Given the description of an element on the screen output the (x, y) to click on. 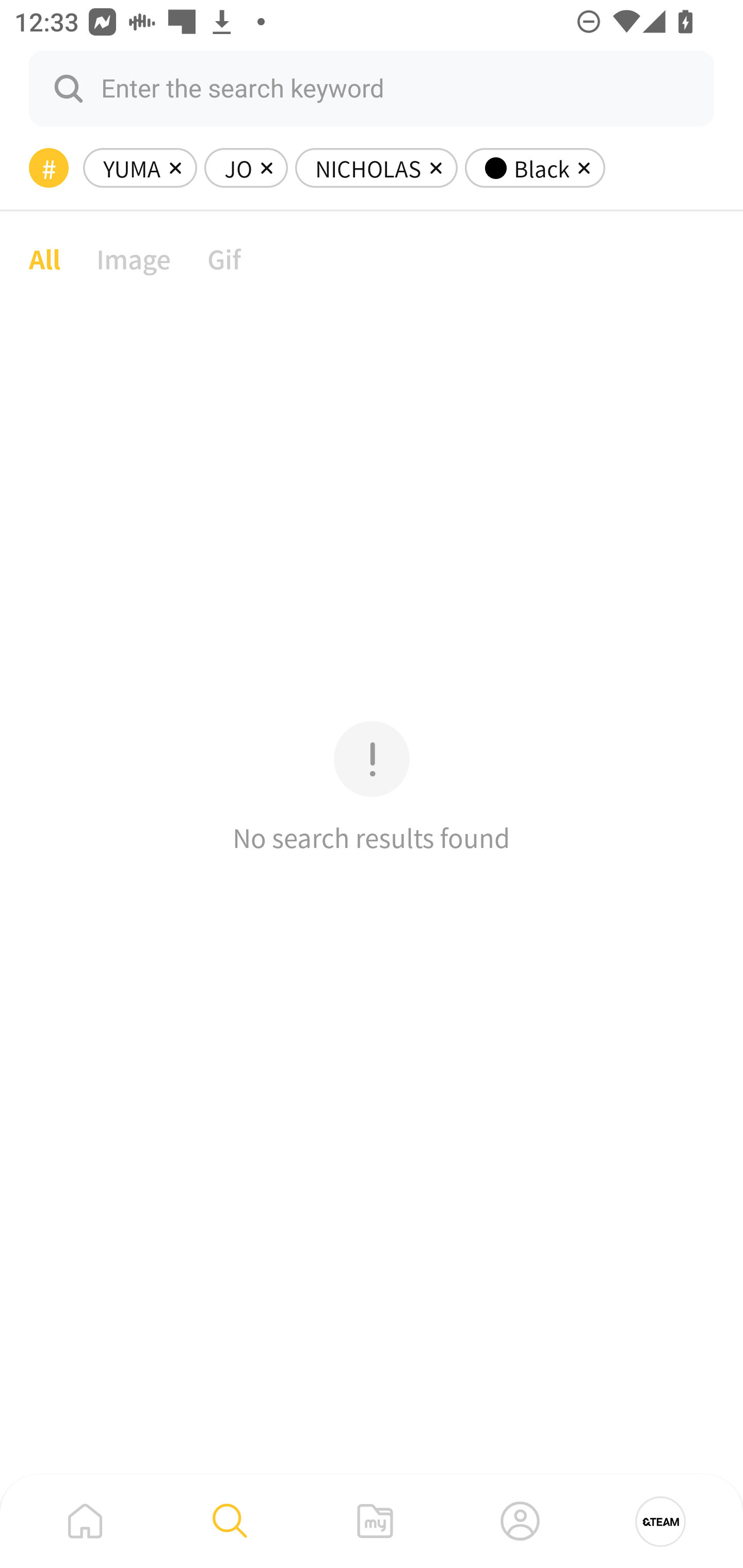
All (44, 257)
Image (133, 257)
Gif (223, 257)
